Given the description of an element on the screen output the (x, y) to click on. 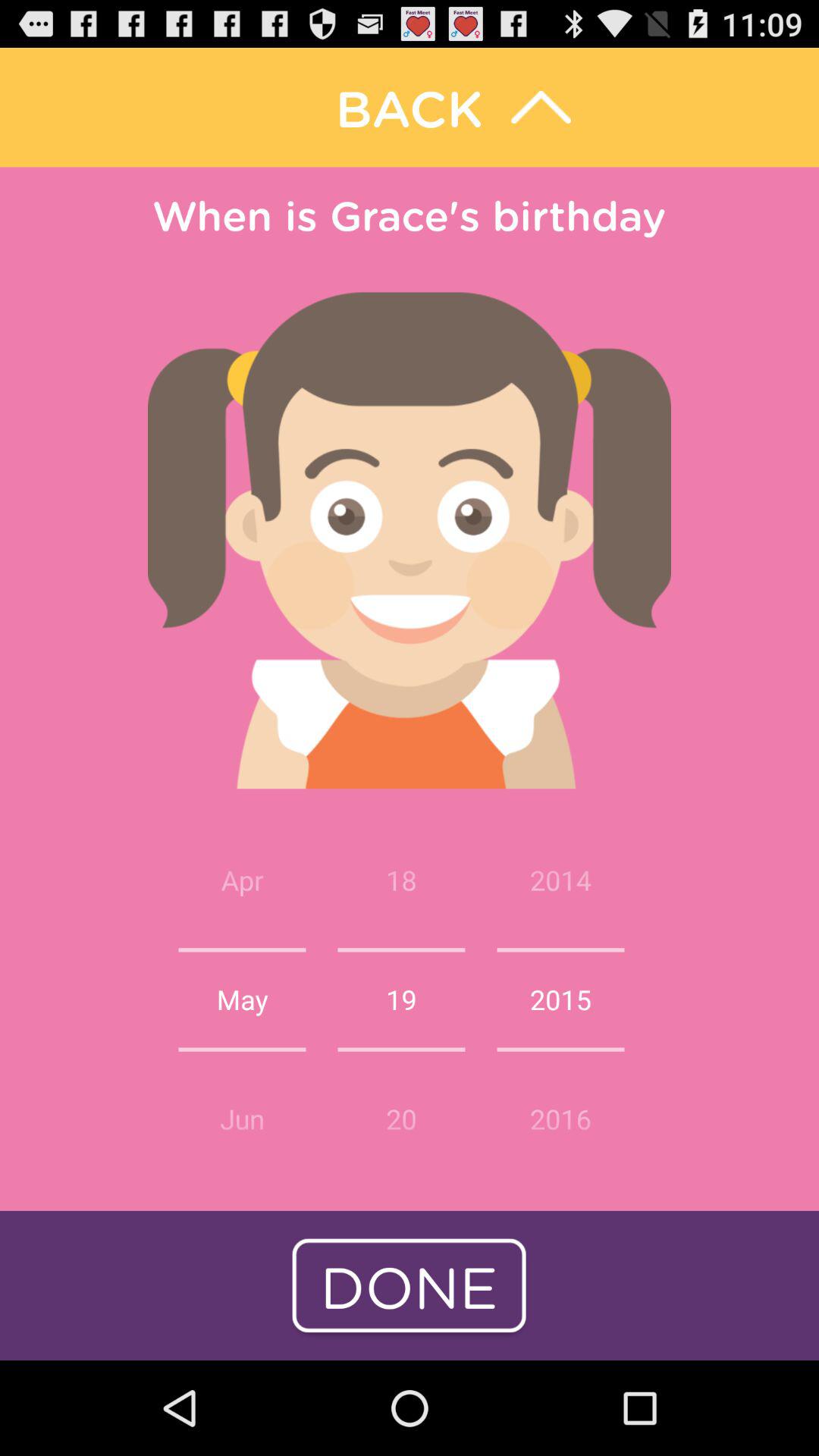
go back (409, 107)
